Given the description of an element on the screen output the (x, y) to click on. 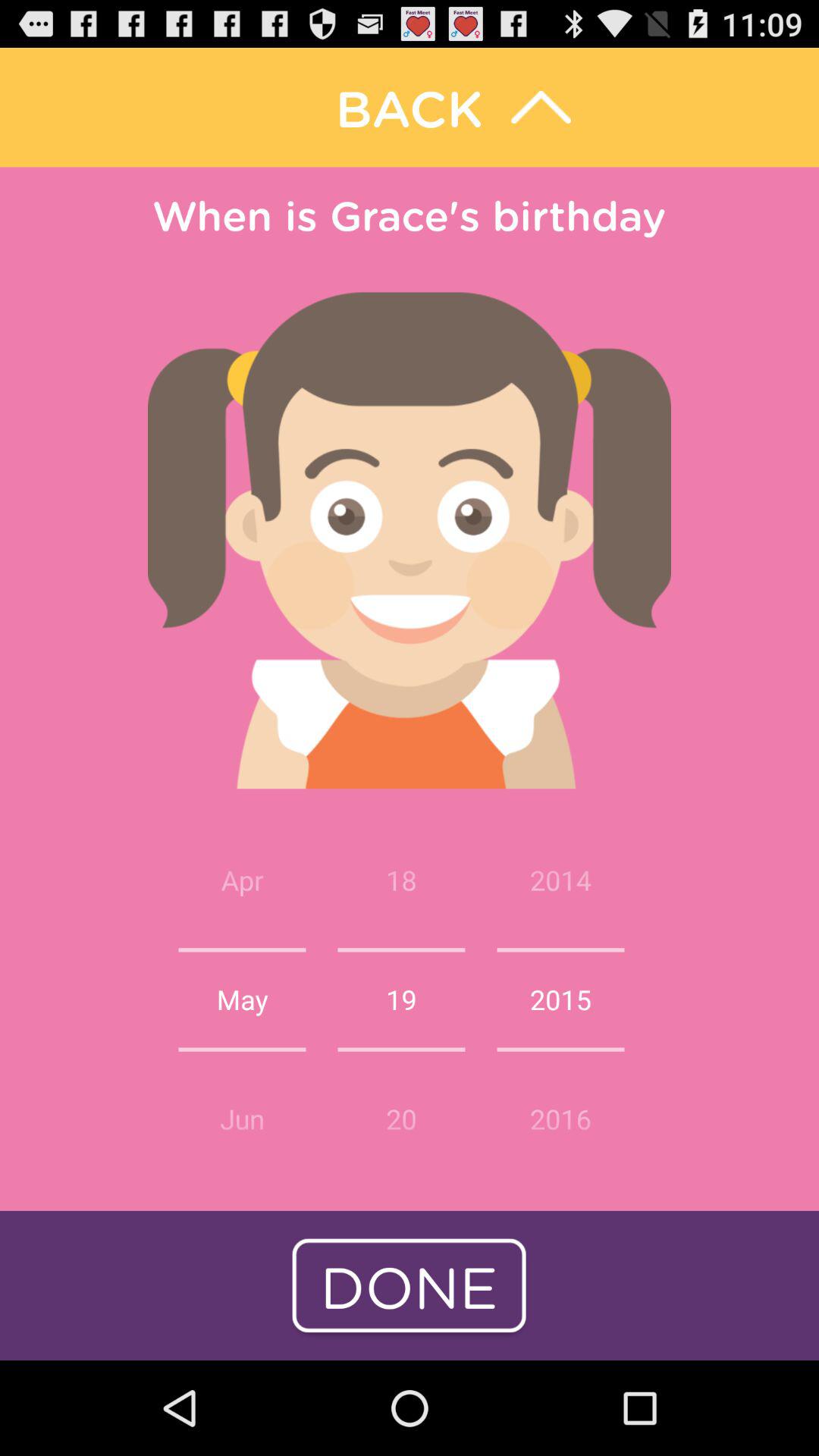
go back (409, 107)
